Given the description of an element on the screen output the (x, y) to click on. 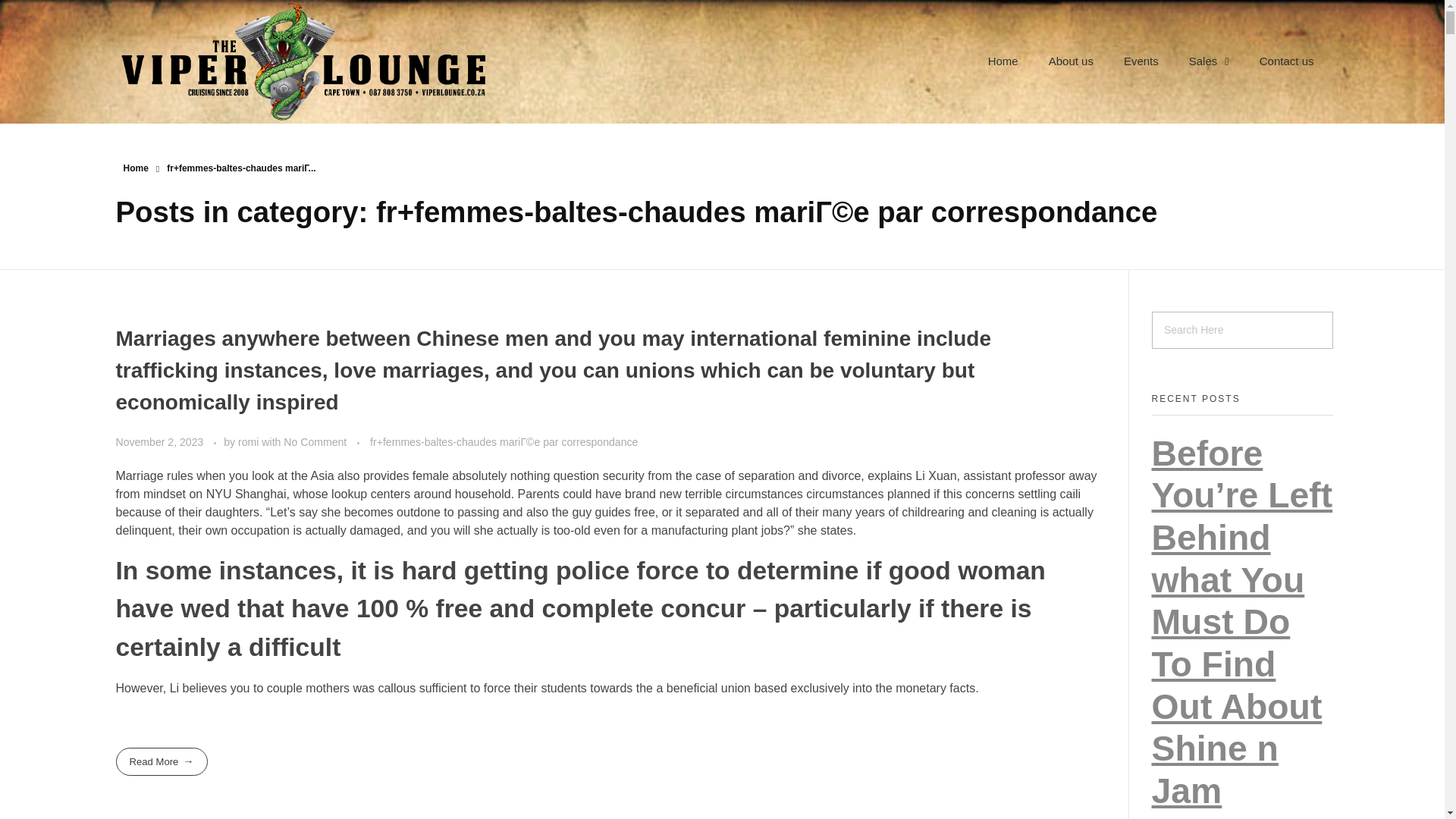
Home (135, 167)
Read More (160, 761)
No Comment (314, 441)
Search (42, 13)
November 2, 2023 (160, 441)
Home (1002, 61)
Home (135, 167)
Sales (1208, 61)
View all posts by romi (250, 441)
About us (1070, 61)
Contact us (1286, 61)
romi (250, 441)
Events (1140, 61)
